Given the description of an element on the screen output the (x, y) to click on. 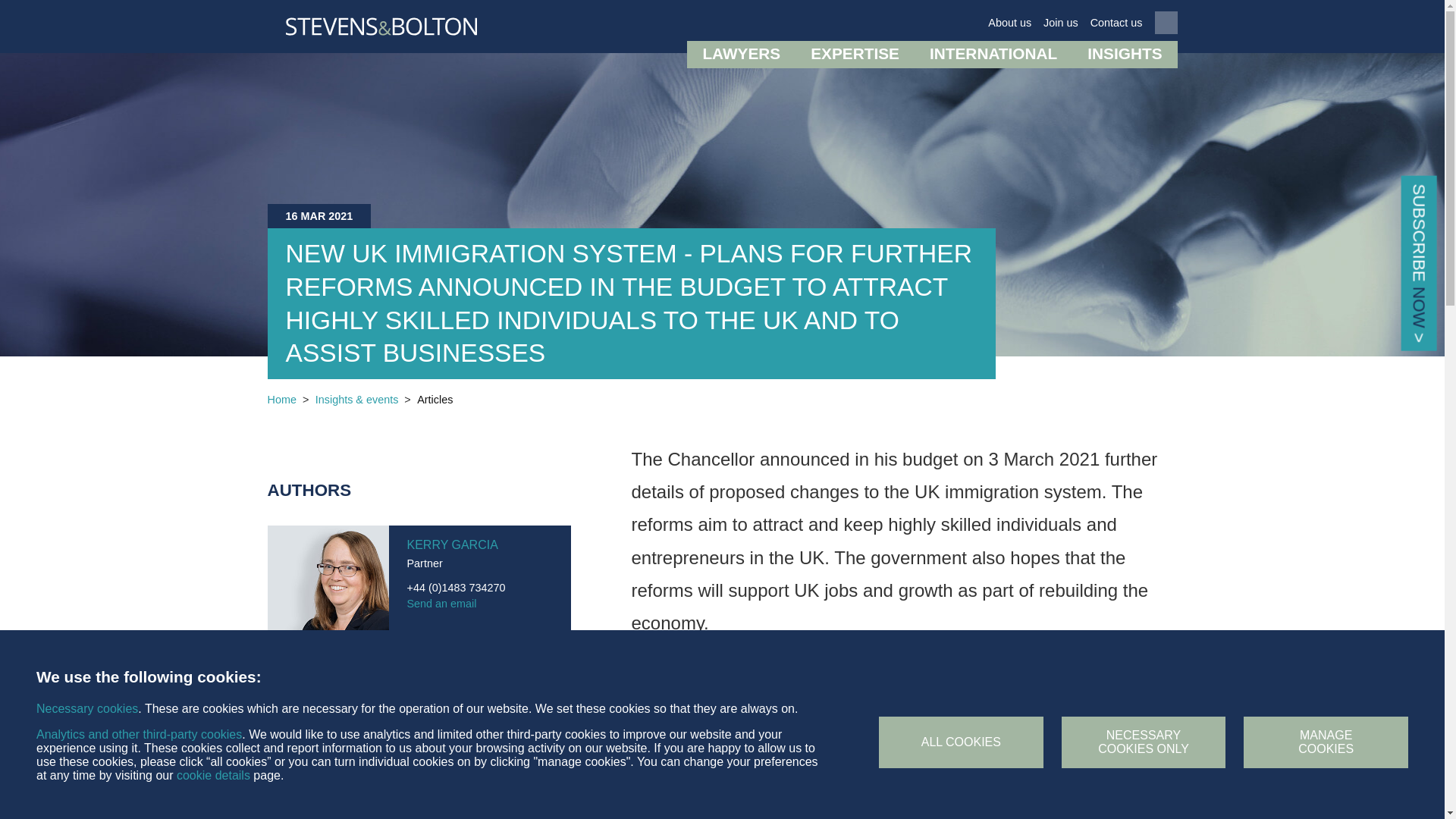
KERRY GARCIA (451, 545)
NYASHA GARDNER (462, 701)
Articles (434, 400)
Send an email (478, 603)
EXPERTISE (854, 53)
Send an email (478, 760)
INTERNATIONAL (992, 53)
About us (1009, 22)
Contact us (1116, 22)
LAWYERS (740, 53)
Home (280, 400)
INSIGHTS (1123, 53)
Join us (1060, 22)
